Given the description of an element on the screen output the (x, y) to click on. 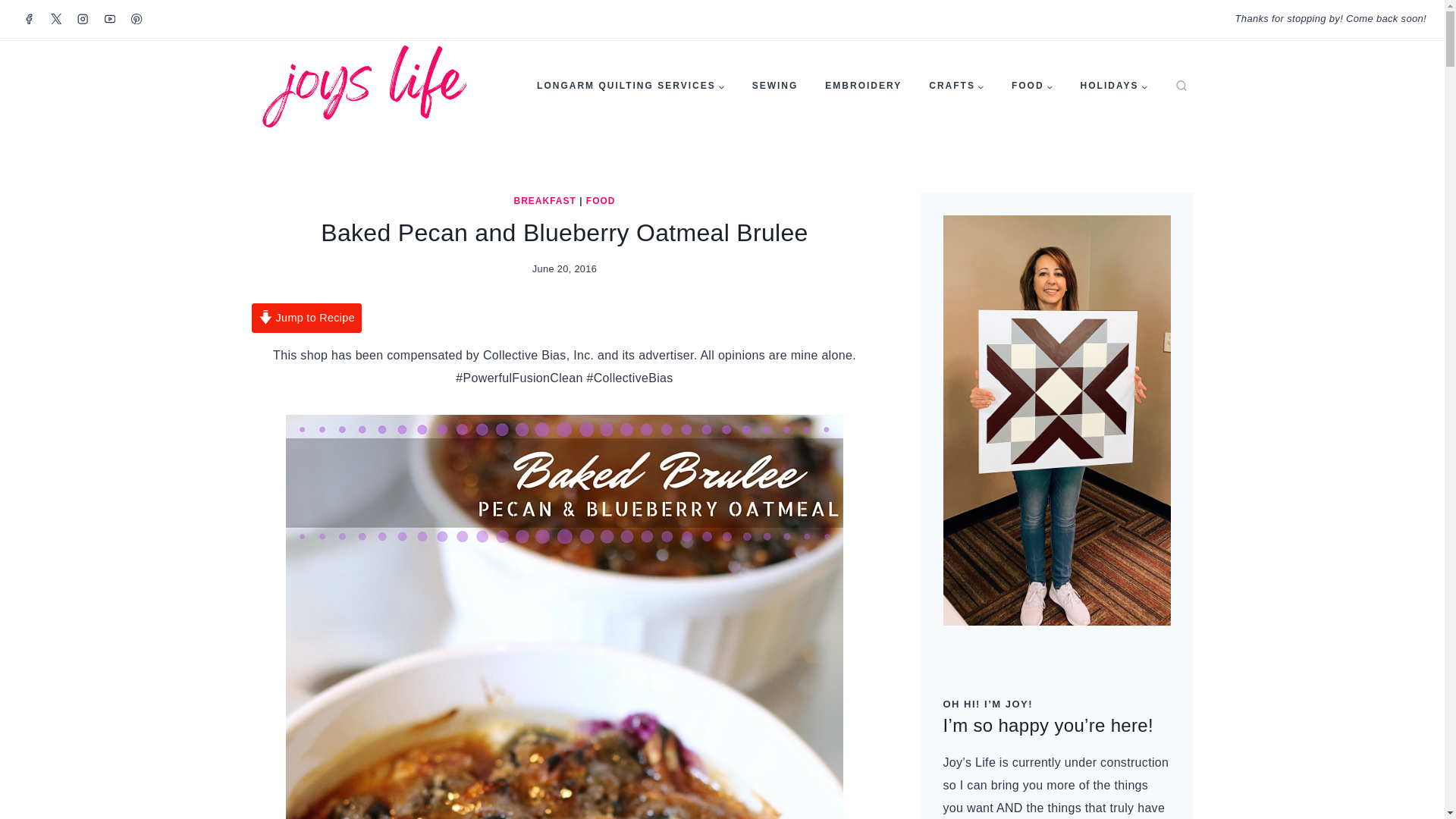
SEWING (775, 85)
HOLIDAYS (1114, 85)
Jump to Recipe (306, 317)
EMBROIDERY (862, 85)
FOOD (600, 200)
LONGARM QUILTING SERVICES (630, 85)
CRAFTS (956, 85)
BREAKFAST (544, 200)
FOOD (1032, 85)
